Given the description of an element on the screen output the (x, y) to click on. 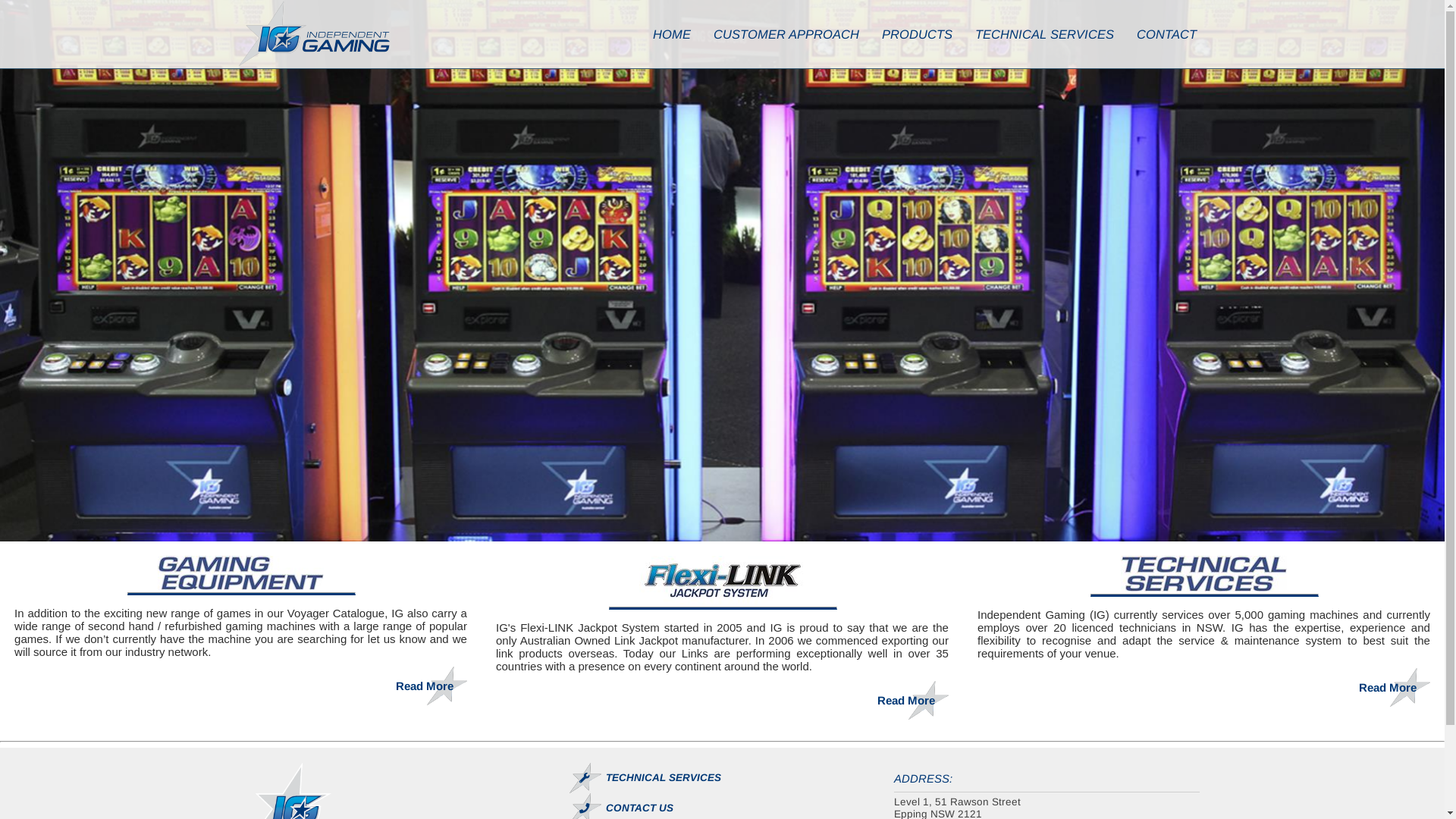
TECHNICAL SERVICES Element type: text (1043, 34)
Read More Element type: text (1387, 687)
HOME Element type: text (671, 34)
TECHNICAL SERVICES Element type: text (722, 777)
CONTACT Element type: text (1166, 34)
CUSTOMER APPROACH Element type: text (786, 34)
PRODUCTS Element type: text (916, 34)
Read More Element type: text (424, 685)
Read More Element type: text (905, 700)
